Given the description of an element on the screen output the (x, y) to click on. 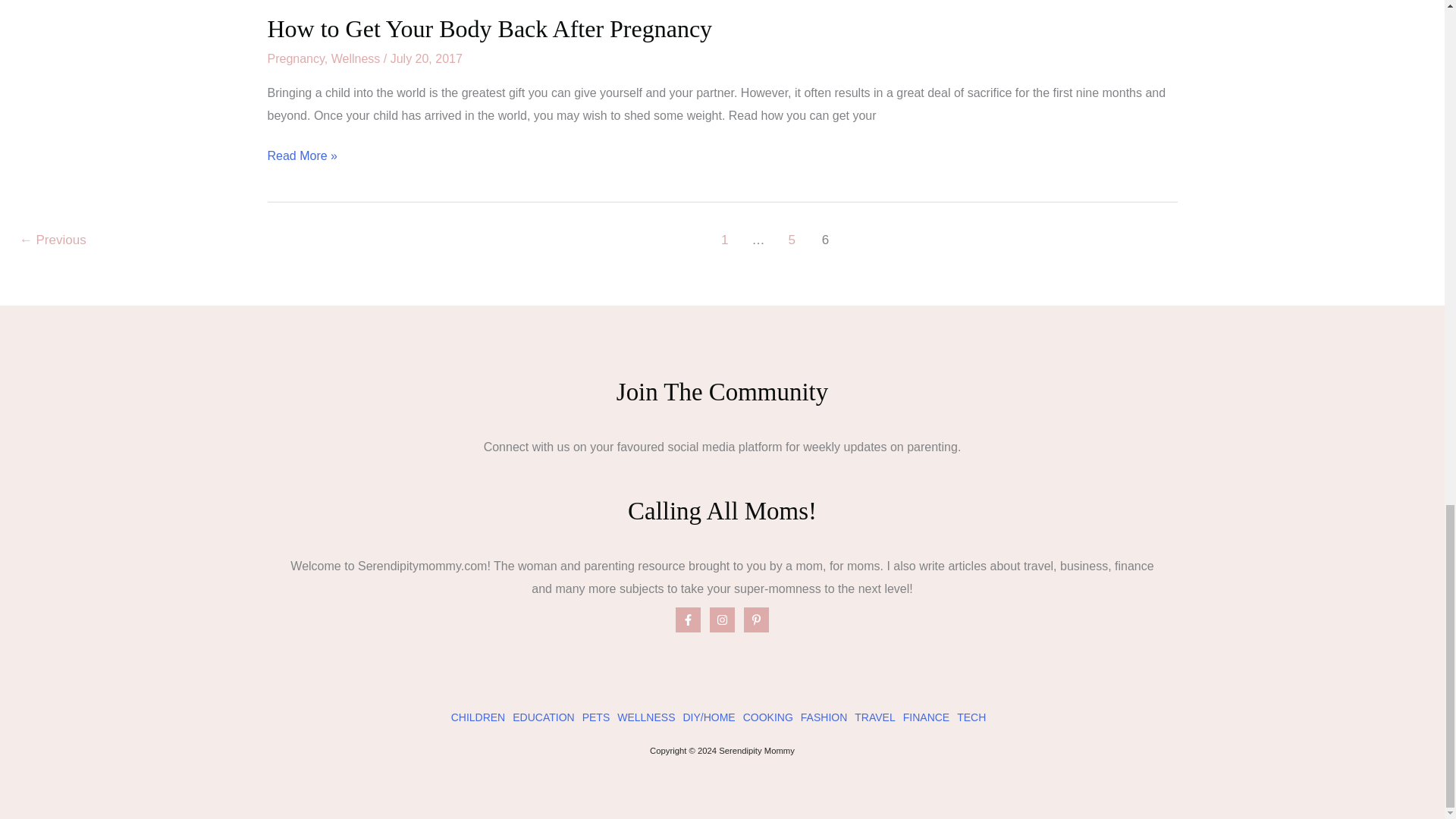
PETS (596, 717)
Wellness (355, 58)
FINANCE (925, 717)
EDUCATION (542, 717)
TECH (970, 717)
COOKING (767, 717)
CHILDREN (478, 717)
TRAVEL (874, 717)
5 (791, 241)
WELLNESS (646, 717)
How to Get Your Body Back After Pregnancy (488, 28)
FASHION (823, 717)
Pregnancy (294, 58)
1 (724, 241)
